Given the description of an element on the screen output the (x, y) to click on. 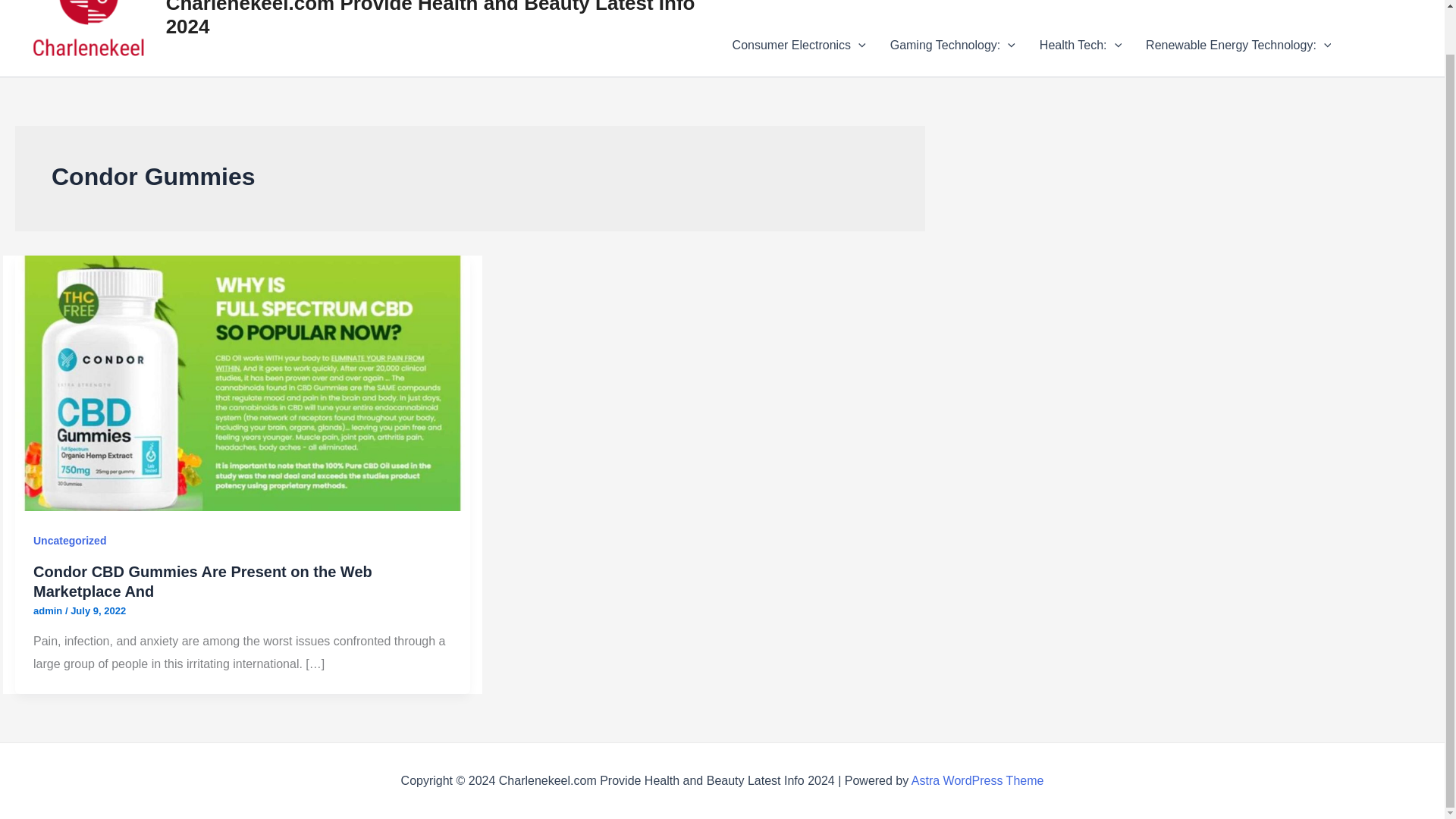
Consumer Electronics (798, 45)
Automotive Technology (941, 7)
Charlenekeel.com Provide Health and Beauty Latest Info 2024 (430, 18)
Computing Devices (1276, 7)
Camera and Photography: (1113, 7)
View all posts by admin (49, 610)
Audio Technology: (789, 7)
Health Tech: (1080, 45)
Gaming Technology: (952, 45)
